Given the description of an element on the screen output the (x, y) to click on. 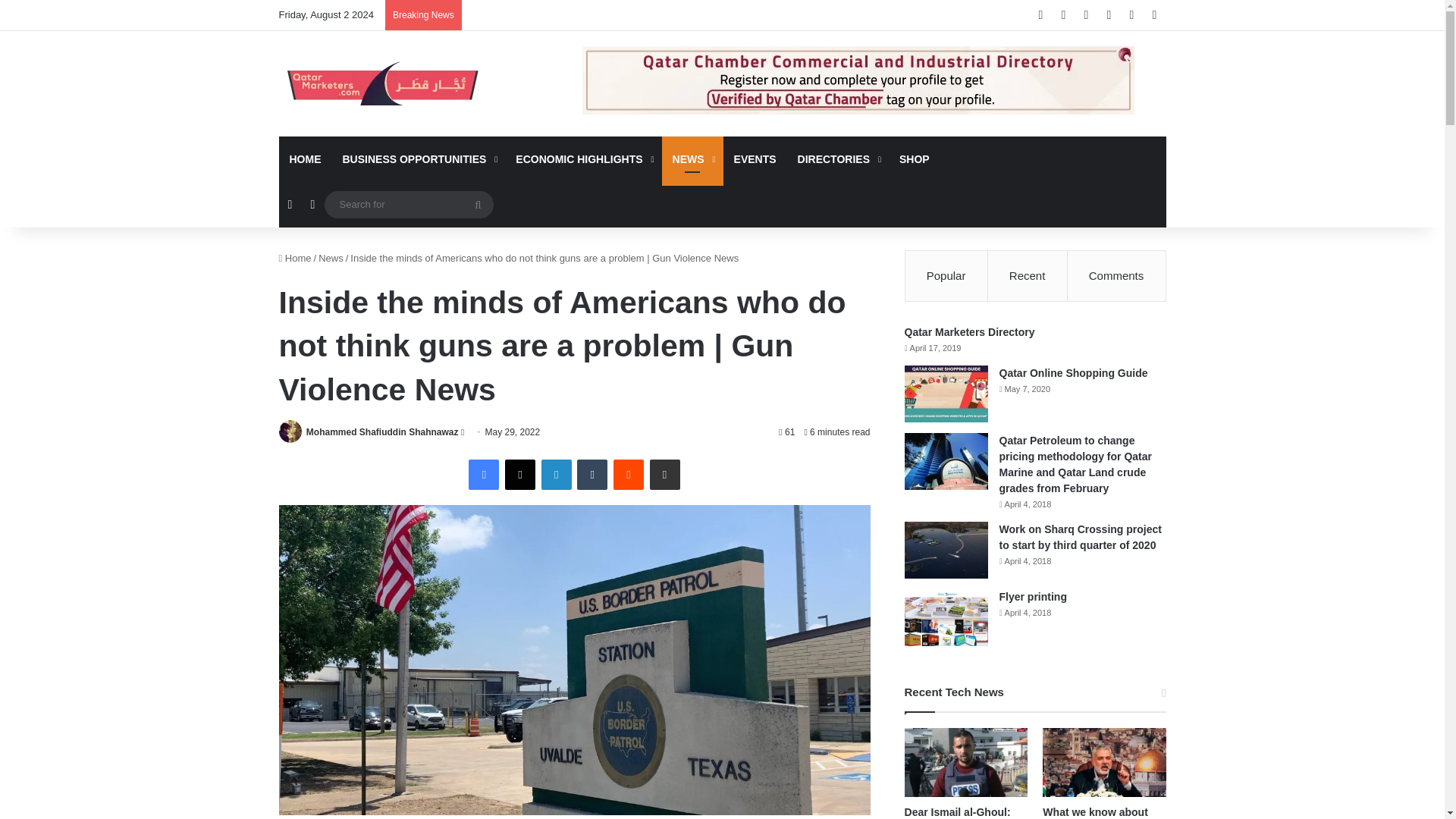
EVENTS (755, 158)
Mohammed Shafiuddin Shahnawaz (381, 431)
NEWS (692, 158)
LinkedIn (556, 474)
ECONOMIC HIGHLIGHTS (583, 158)
HOME (305, 158)
Qatar Marketers (381, 83)
Search for (408, 203)
Facebook (483, 474)
DIRECTORIES (837, 158)
Reddit (627, 474)
X (520, 474)
Share via Email (664, 474)
Tumblr (591, 474)
BUSINESS OPPORTUNITIES (418, 158)
